Given the description of an element on the screen output the (x, y) to click on. 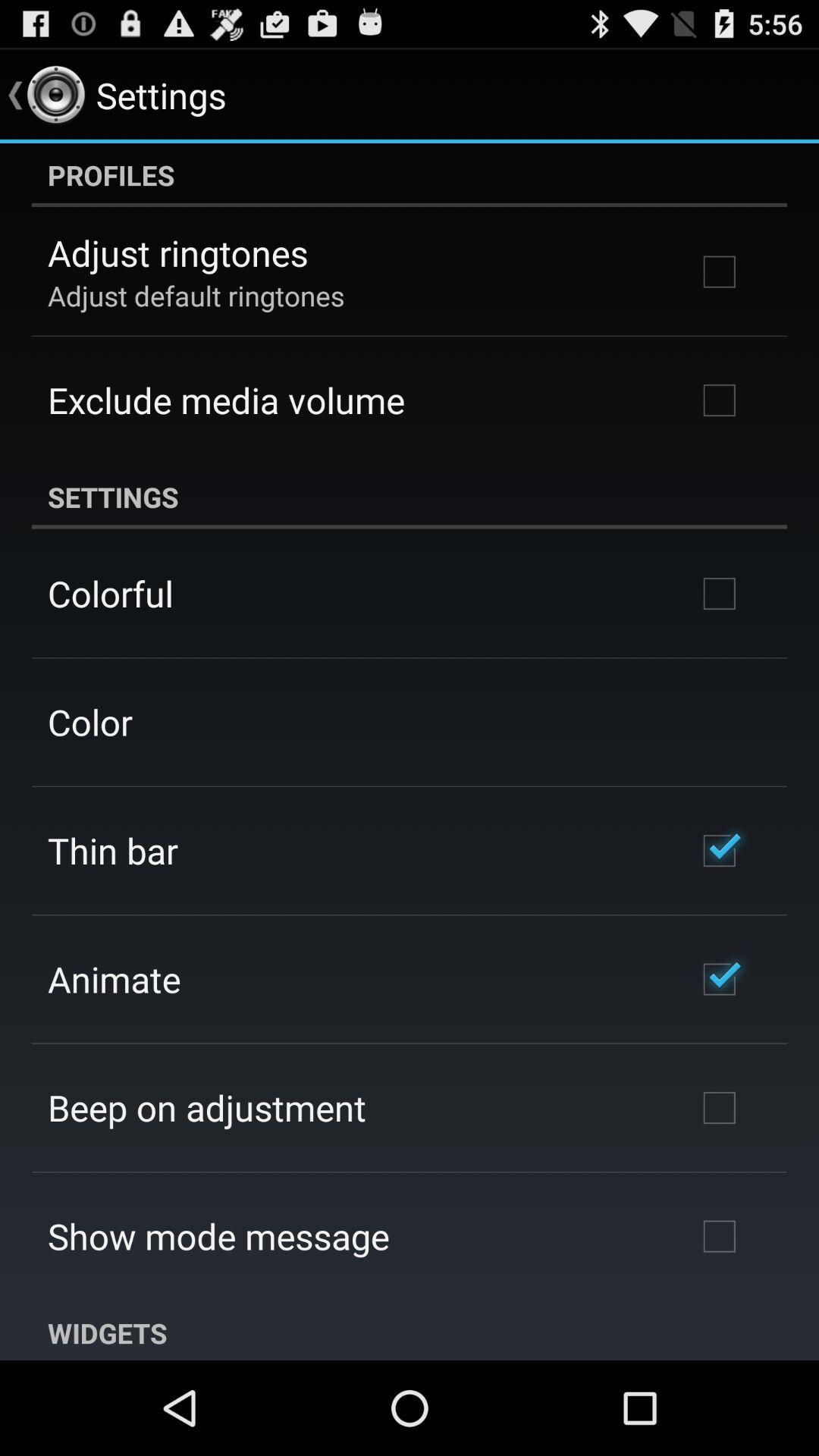
flip until the show mode message icon (218, 1236)
